Given the description of an element on the screen output the (x, y) to click on. 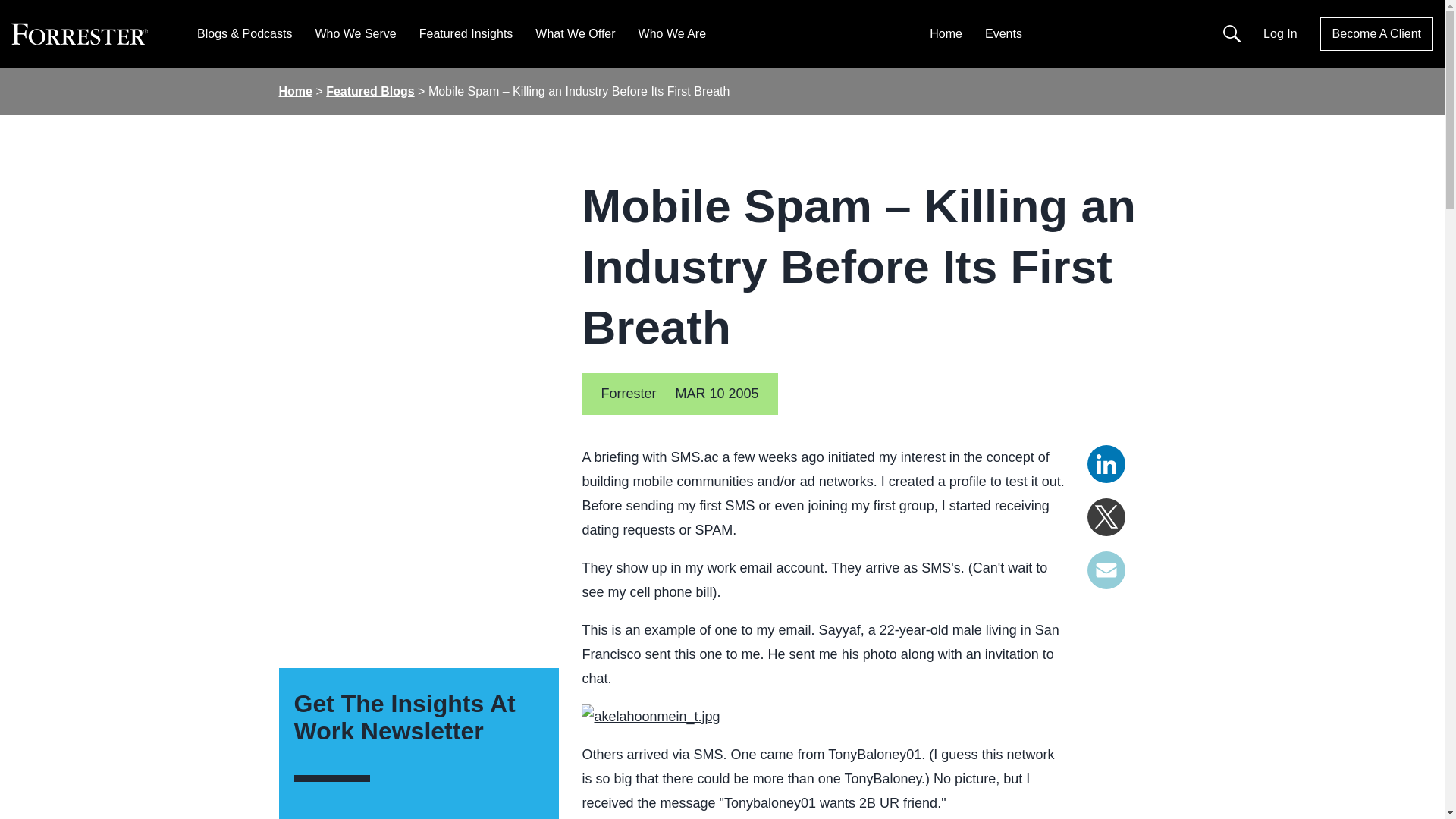
Featured Insights (466, 33)
What We Offer (574, 33)
Who We Serve (355, 33)
